Given the description of an element on the screen output the (x, y) to click on. 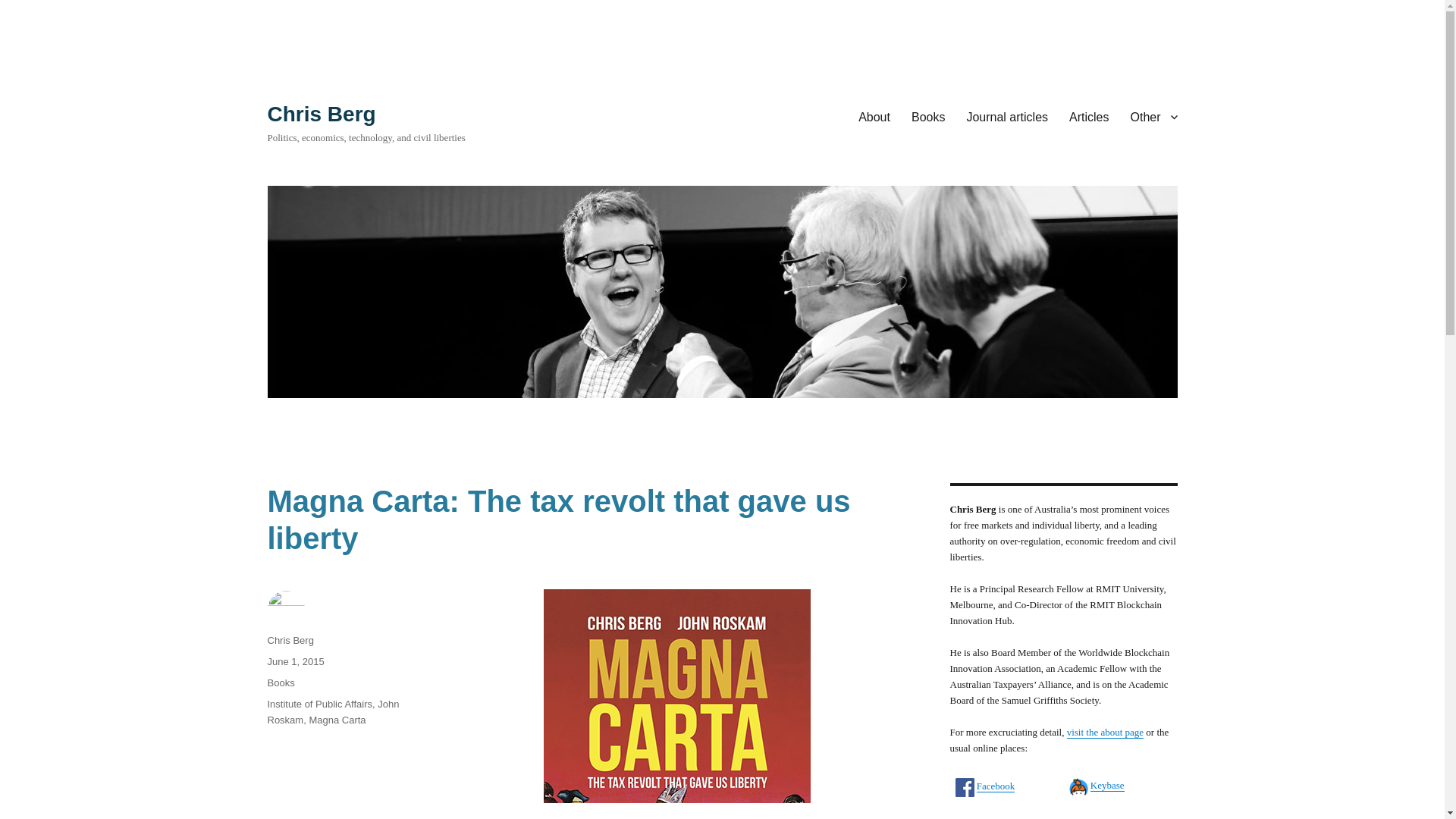
John Roskam (332, 711)
Other (1153, 116)
Chris Berg (320, 114)
About (874, 116)
Twitter (990, 816)
Journal articles (1006, 116)
SSRN (1102, 816)
Books (280, 682)
visit the about page (1104, 731)
Chris Berg (289, 640)
Facebook (995, 785)
Books (928, 116)
Articles (1088, 116)
Institute of Public Affairs (319, 704)
June 1, 2015 (294, 661)
